Given the description of an element on the screen output the (x, y) to click on. 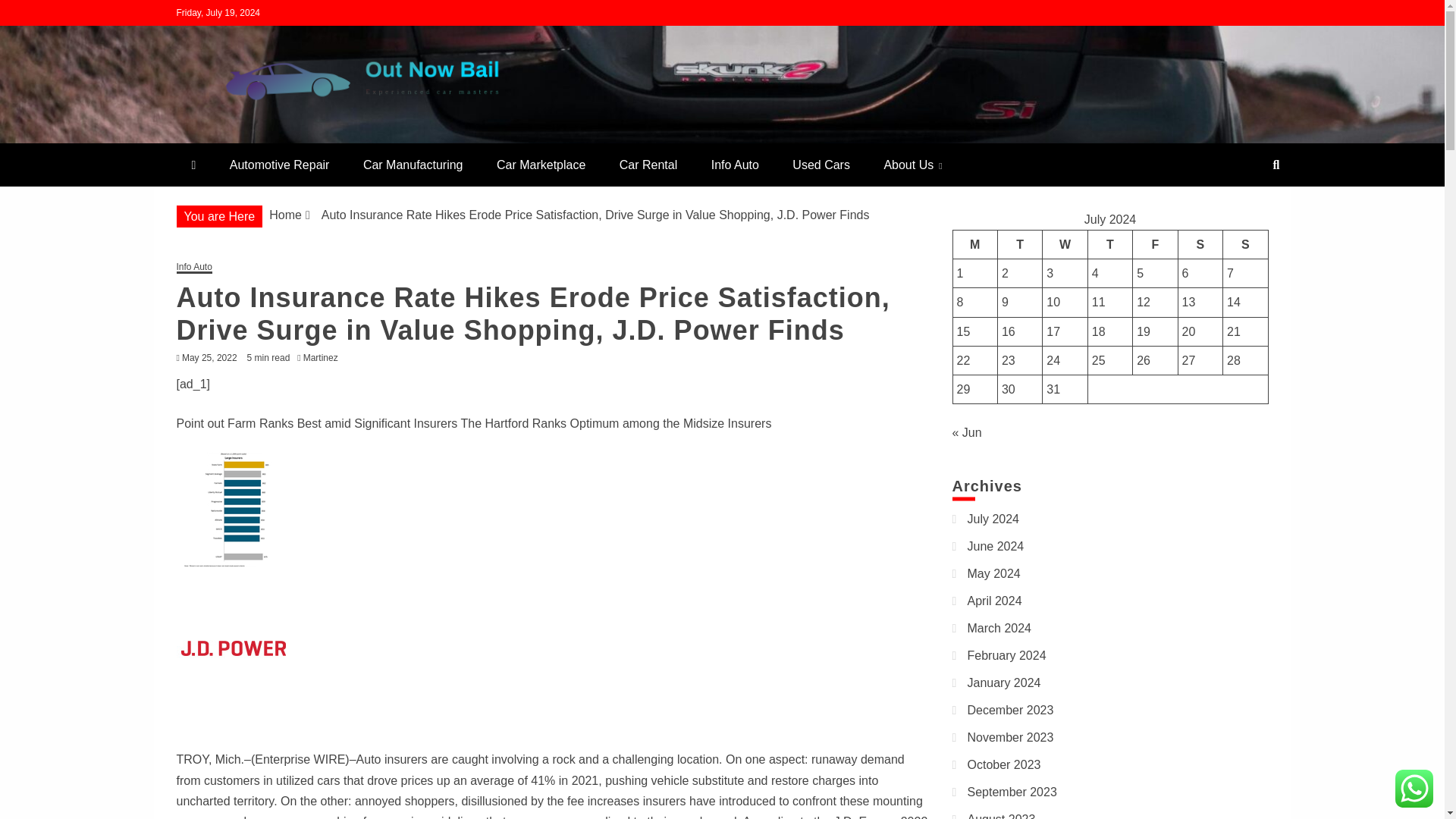
Car Manufacturing (413, 164)
Car Marketplace (540, 164)
Friday (1154, 244)
Wednesday (1064, 244)
Thursday (1109, 244)
Info Auto (734, 164)
Martinez (324, 357)
Car Rental (648, 164)
Tuesday (1019, 244)
About Us (911, 164)
Used Cars (820, 164)
Home (285, 214)
Sunday (1245, 244)
May 25, 2022 (209, 357)
Out Now Bail (265, 136)
